Given the description of an element on the screen output the (x, y) to click on. 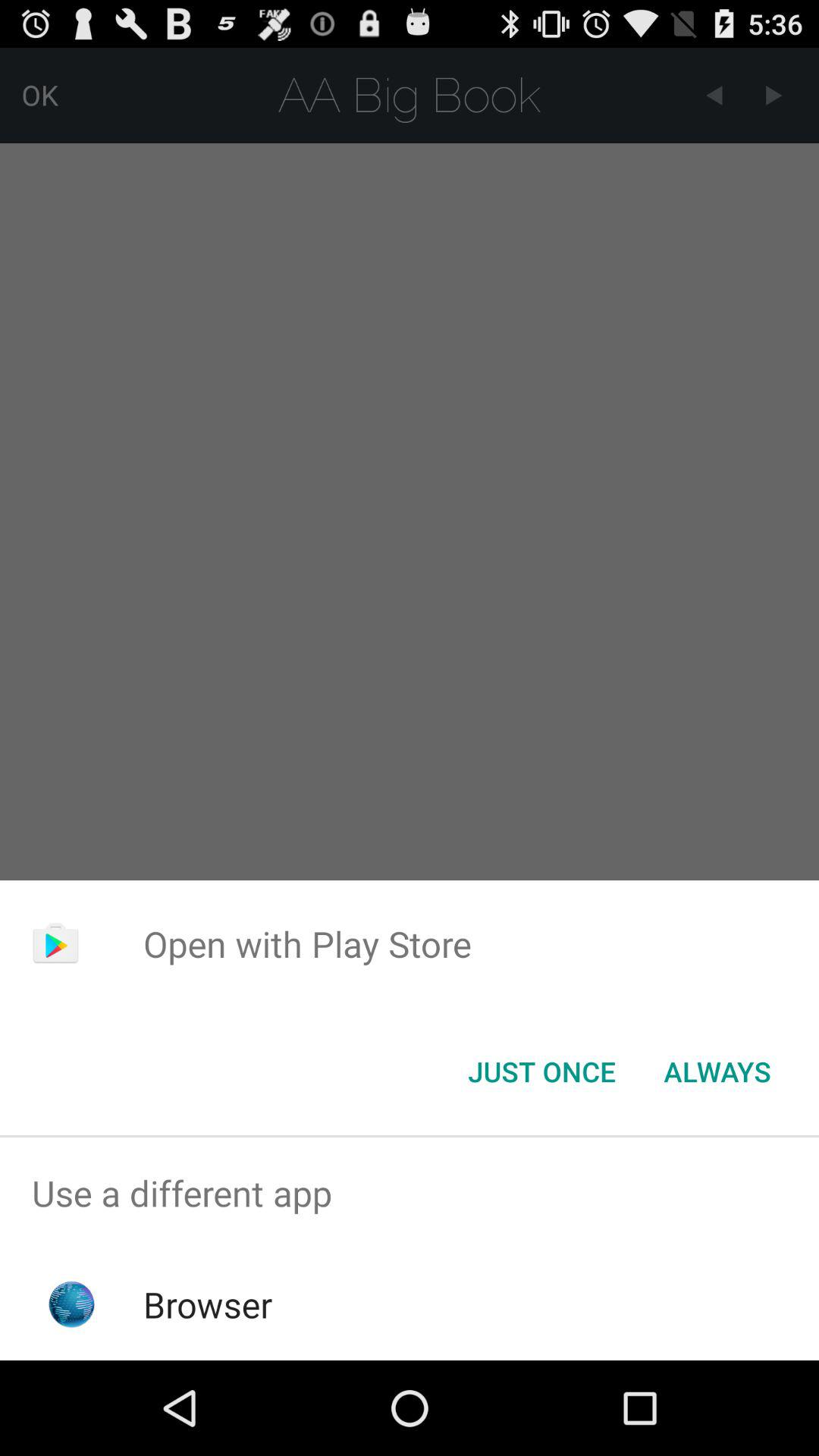
select the icon below open with play icon (541, 1071)
